Given the description of an element on the screen output the (x, y) to click on. 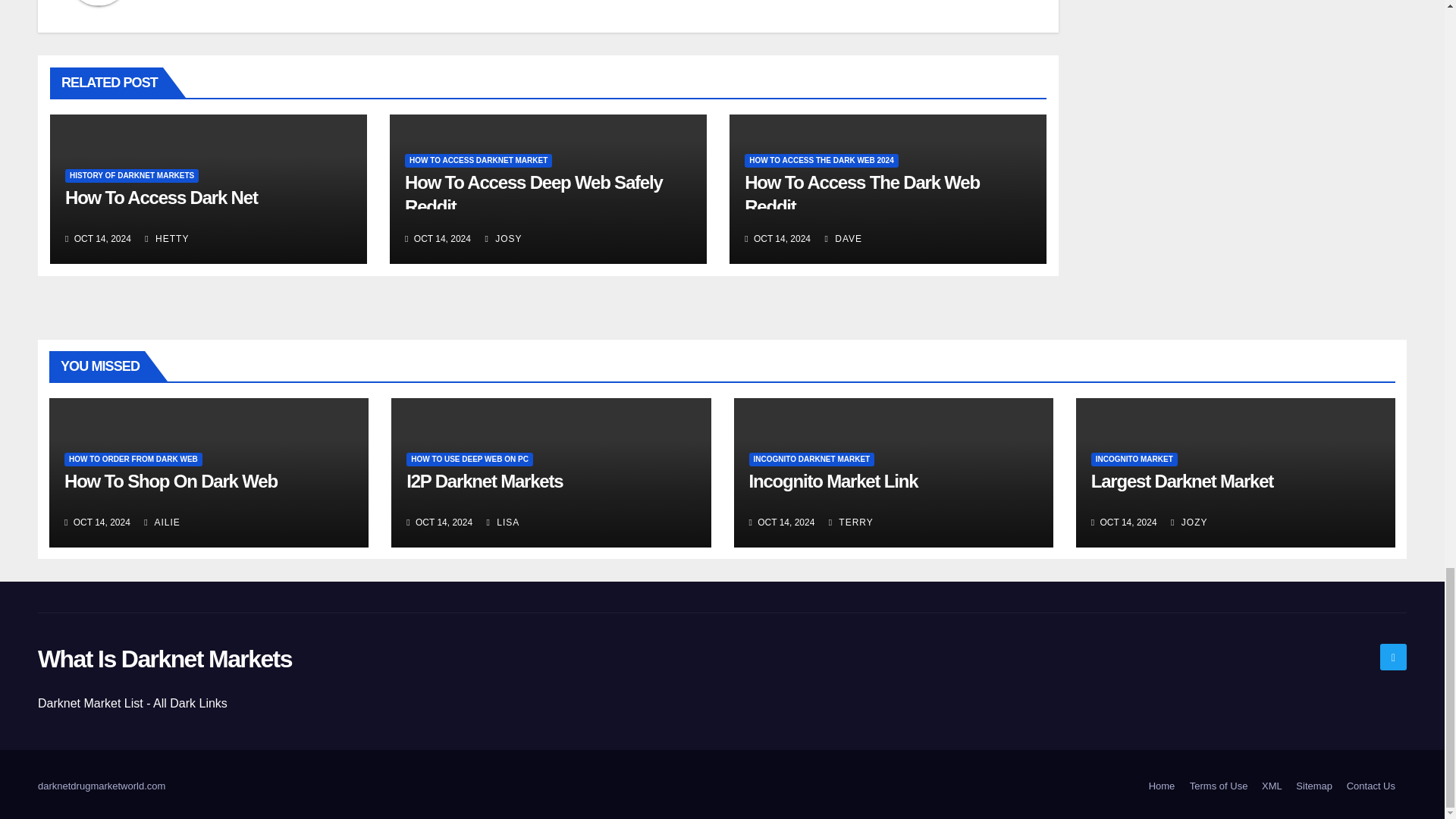
Permalink to: How To Access Darknet Markets (533, 193)
Permalink to: How Big Is The Darknet Market (161, 197)
Permalink to: How To Access The Dark Web On Pc (861, 193)
